Given the description of an element on the screen output the (x, y) to click on. 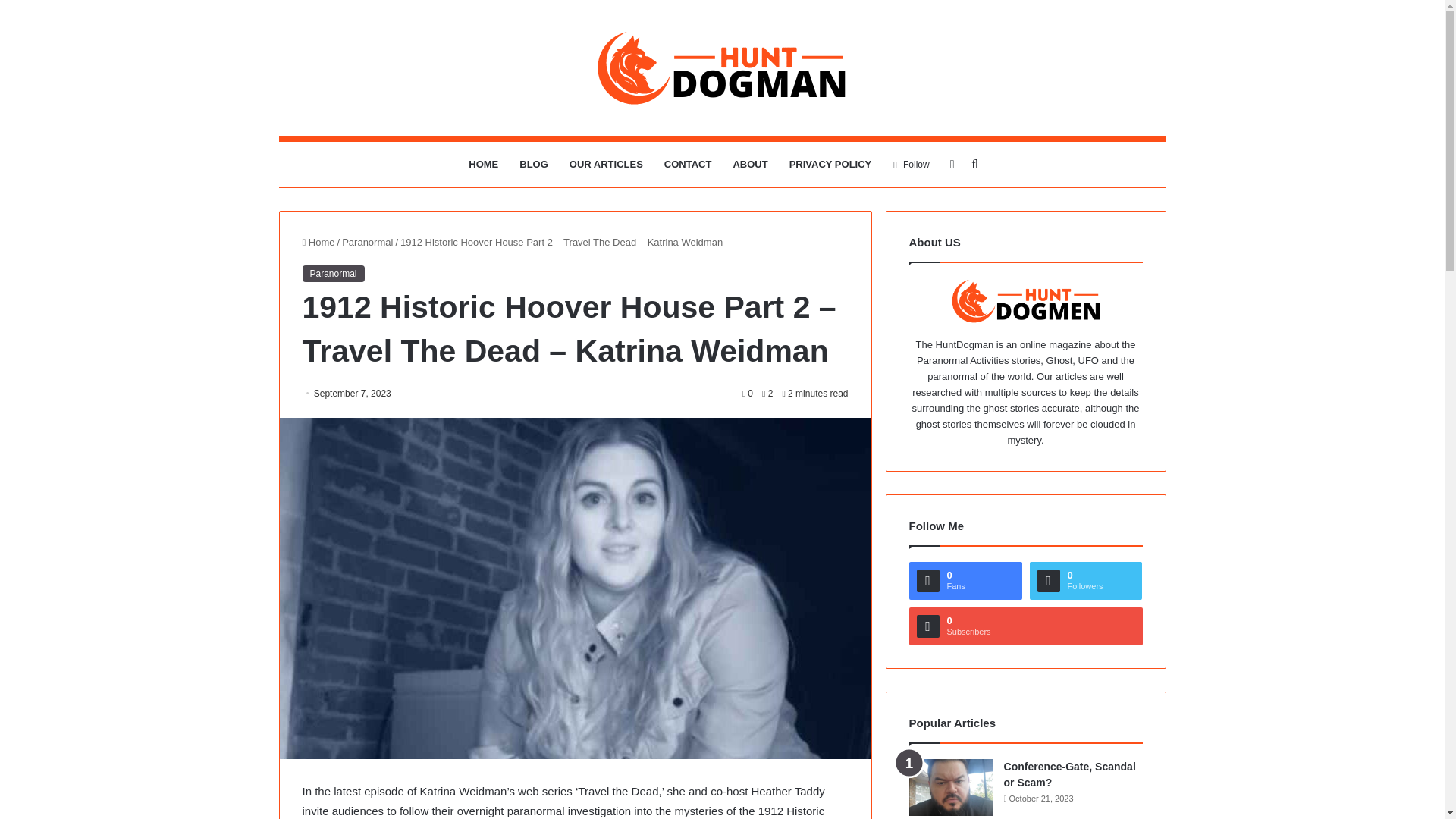
ABOUT (749, 164)
huntdogman.com (721, 67)
Paranormal (367, 242)
Home (317, 242)
PRIVACY POLICY (830, 164)
BLOG (533, 164)
HOME (483, 164)
CONTACT (687, 164)
Paranormal (332, 273)
Follow (911, 164)
